Given the description of an element on the screen output the (x, y) to click on. 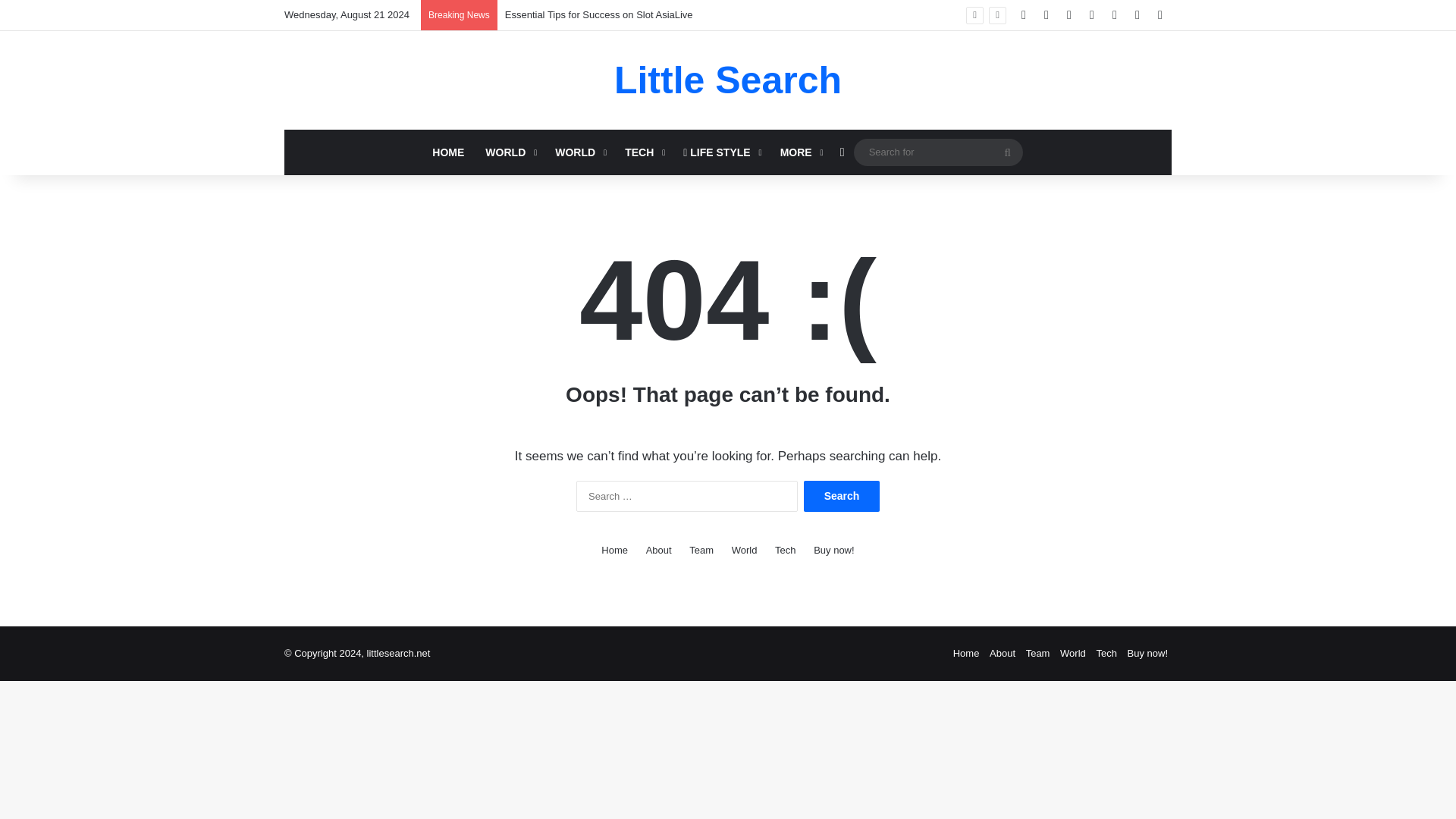
WORLD (579, 152)
Essential Tips for Success on Slot AsiaLive (599, 14)
TECH (643, 152)
Buy now! (1146, 653)
Search for (938, 151)
LIFE STYLE (720, 152)
HOME (448, 152)
MORE (800, 152)
Little Search (727, 80)
Little Search (727, 80)
